Given the description of an element on the screen output the (x, y) to click on. 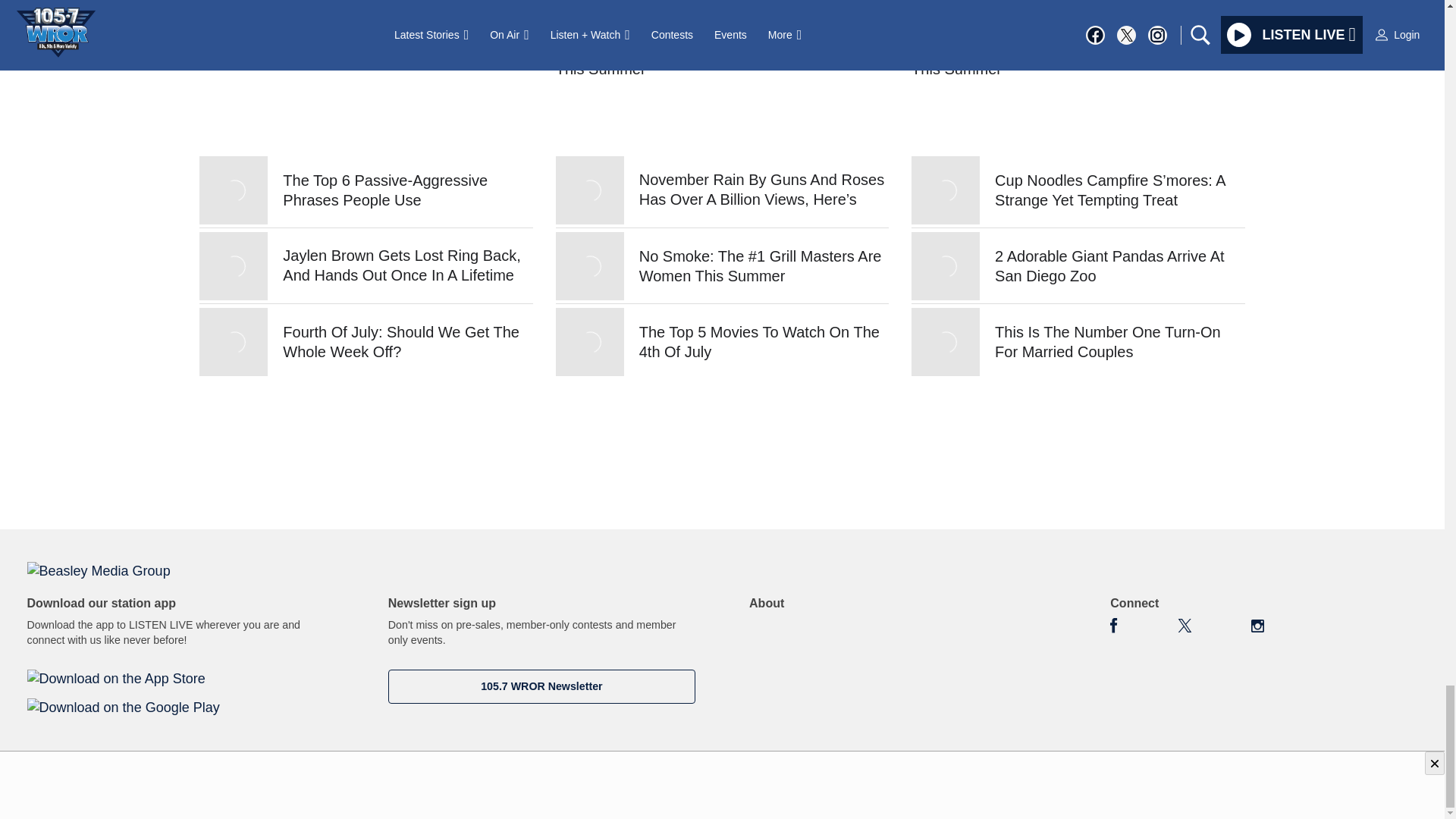
Instagram (1256, 625)
Twitter (1184, 625)
